Given the description of an element on the screen output the (x, y) to click on. 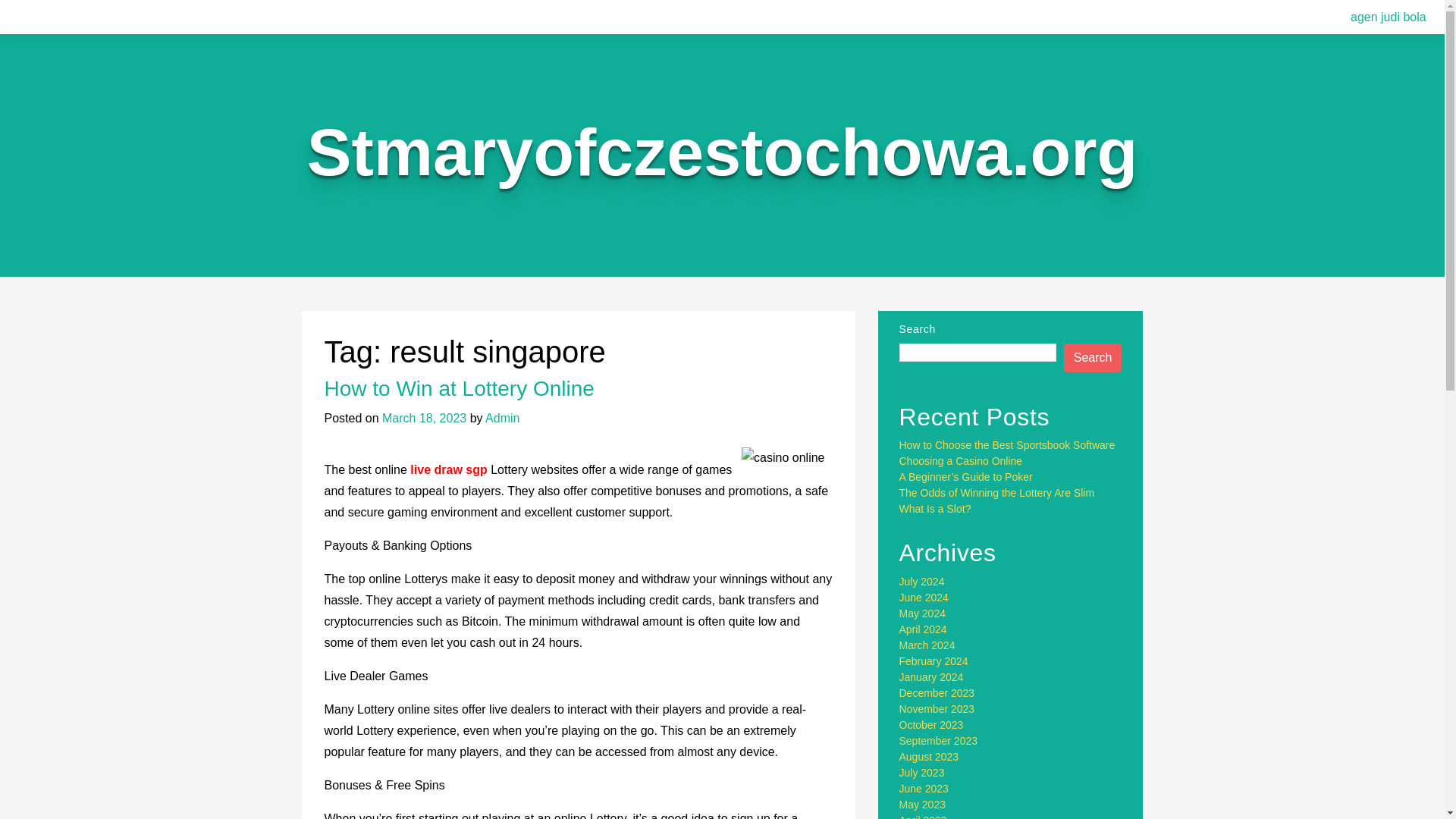
agen judi bola (1387, 16)
February 2024 (933, 661)
September 2023 (938, 740)
May 2024 (921, 613)
The Odds of Winning the Lottery Are Slim (996, 492)
agen judi bola (1387, 16)
December 2023 (937, 693)
November 2023 (937, 708)
March 2024 (927, 645)
How to Win at Lottery Online (459, 388)
Choosing a Casino Online (961, 460)
live draw sgp (448, 469)
July 2024 (921, 581)
October 2023 (931, 725)
August 2023 (929, 756)
